Given the description of an element on the screen output the (x, y) to click on. 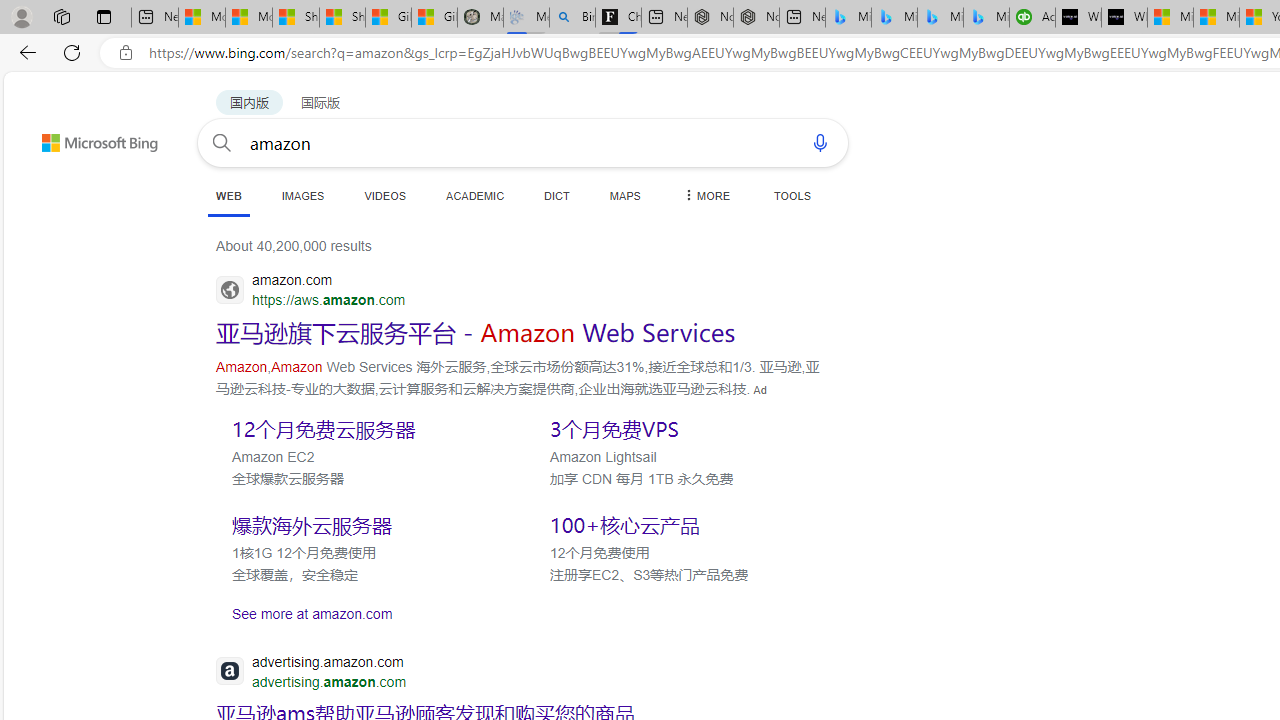
MAPS (624, 195)
Skip to content (63, 133)
TOOLS (792, 195)
SERP,5550 (365, 428)
DICT (557, 195)
WEB (228, 196)
